Given the description of an element on the screen output the (x, y) to click on. 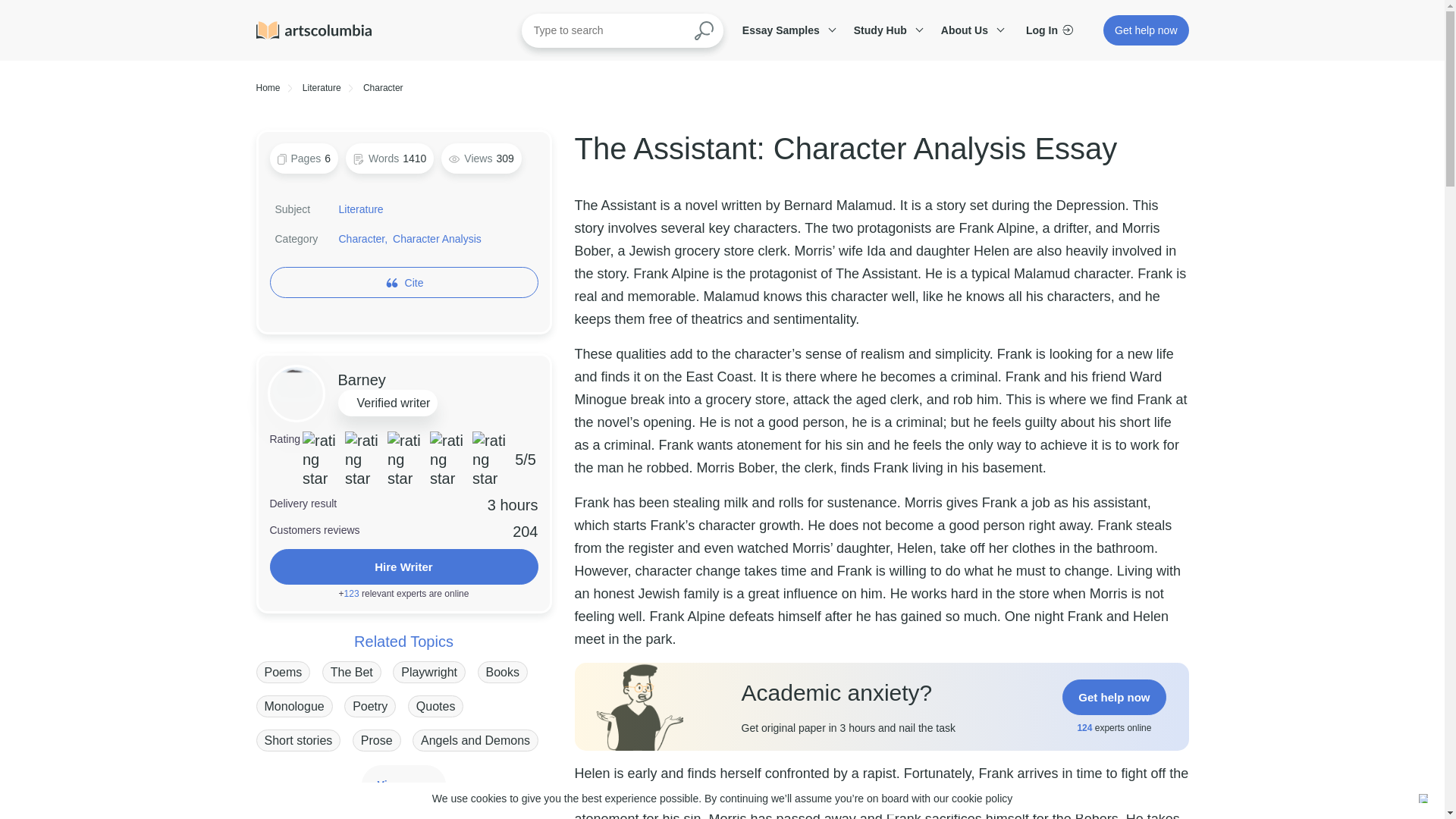
Essay Samples (786, 30)
Literature (360, 209)
Home (268, 87)
Literature (321, 87)
Character Analysis (436, 238)
Character, (362, 238)
Character (382, 87)
Cite (413, 281)
Study Hub (886, 30)
About Us (970, 30)
